Given the description of an element on the screen output the (x, y) to click on. 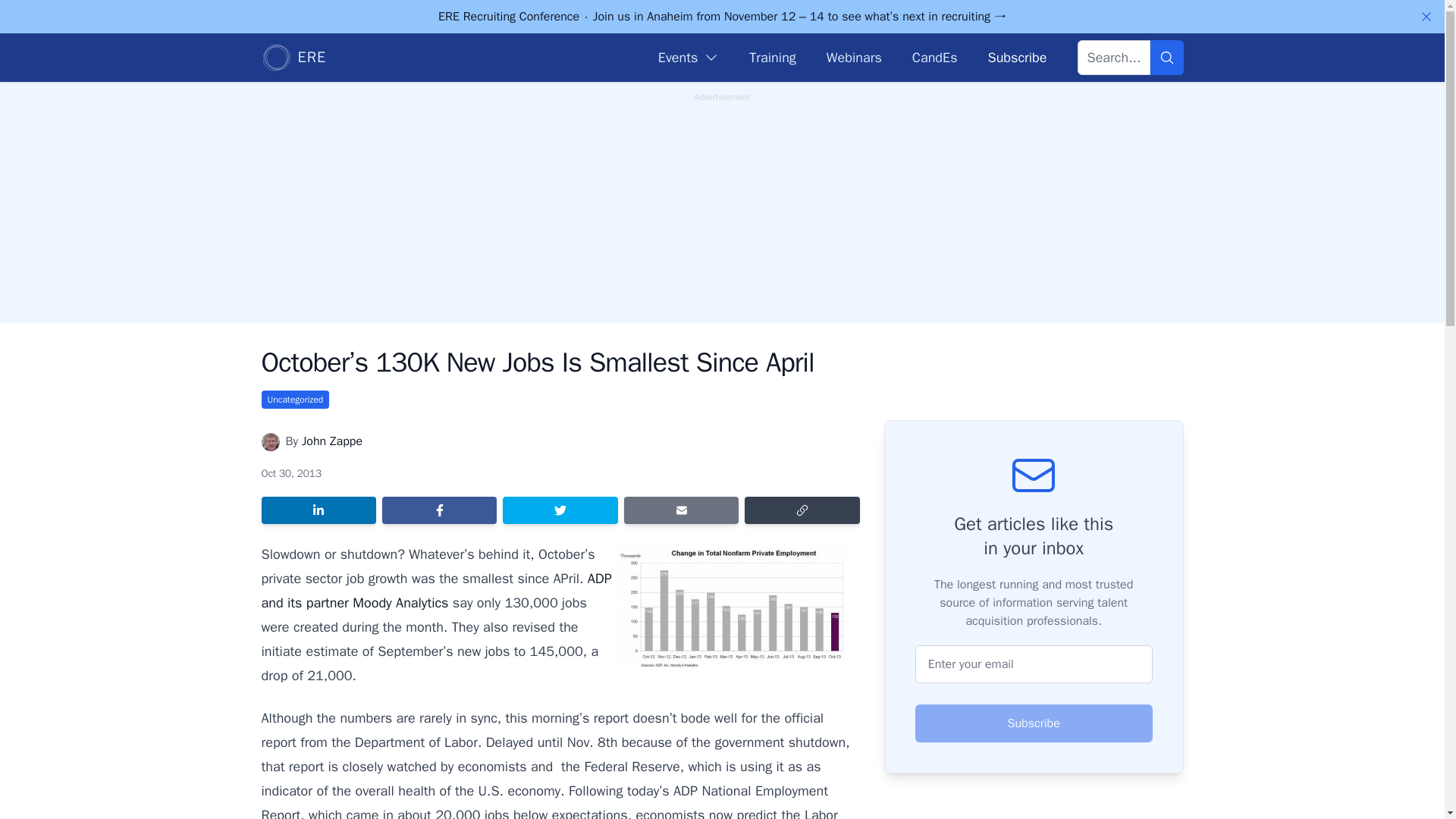
Webinars (854, 56)
ERE (293, 57)
Uncategorized (294, 399)
CandEs (935, 56)
Dismiss (1425, 16)
Training (771, 56)
ADP and its partner Moody Analytics (435, 590)
Events (688, 56)
Subscribe (1016, 56)
John Zappe (331, 441)
Subscribe (1034, 723)
